Given the description of an element on the screen output the (x, y) to click on. 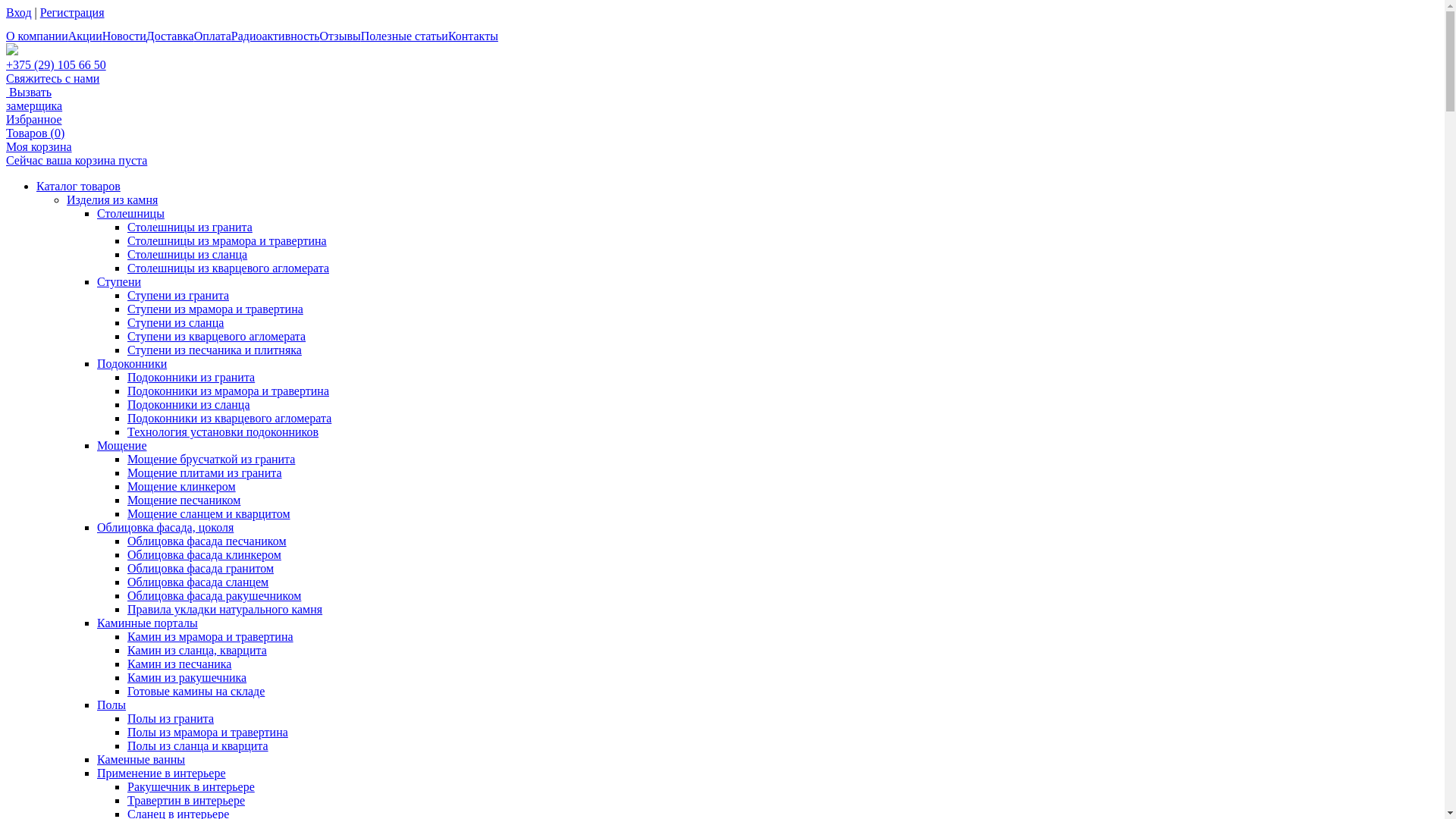
+375 (29) 105 66 50 Element type: text (56, 64)
